Given the description of an element on the screen output the (x, y) to click on. 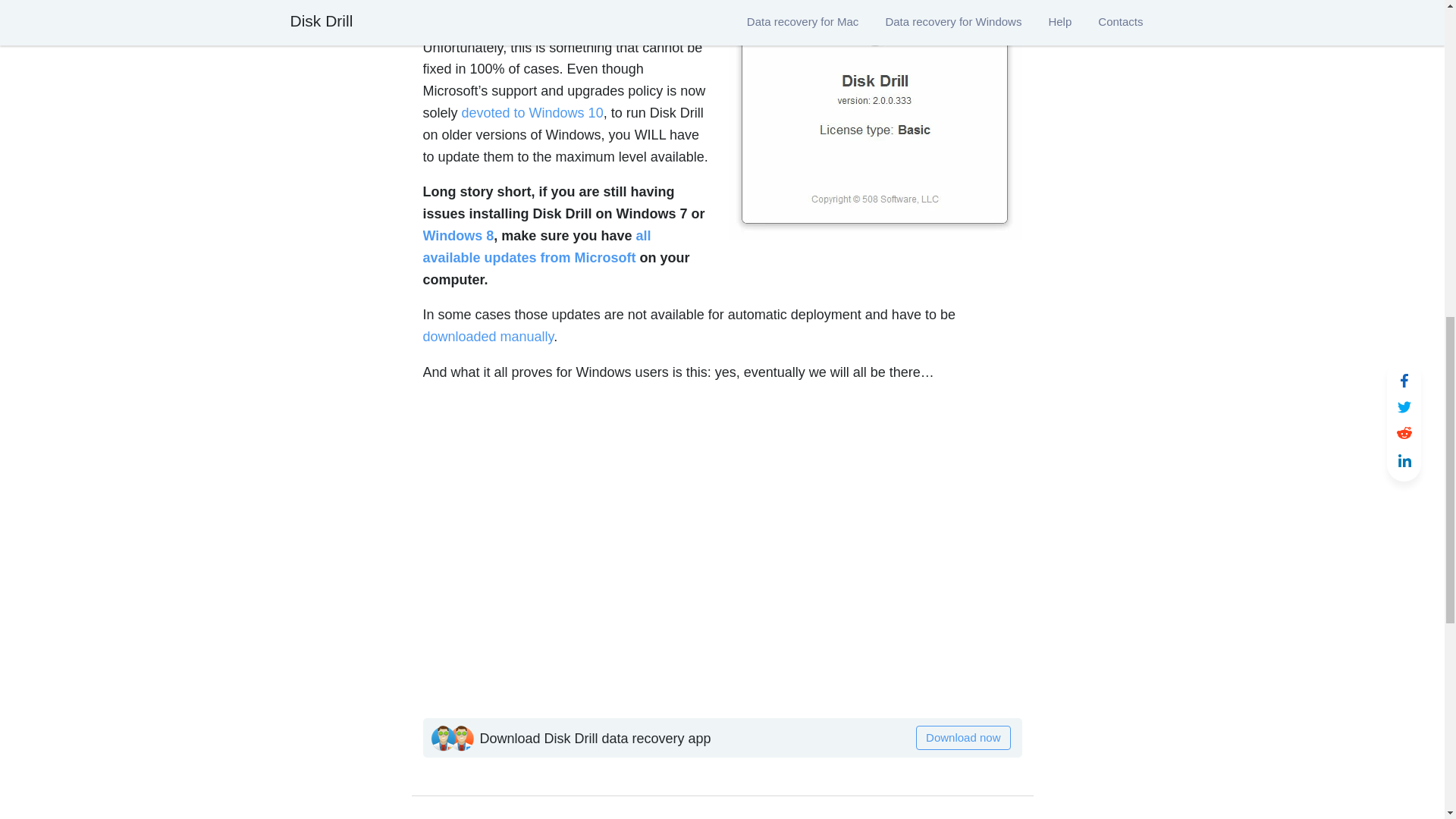
Windows 8 (459, 235)
devoted to Windows 10 (532, 112)
downloaded manually (488, 336)
all available updates from Microsoft (536, 246)
Download now (962, 737)
